Given the description of an element on the screen output the (x, y) to click on. 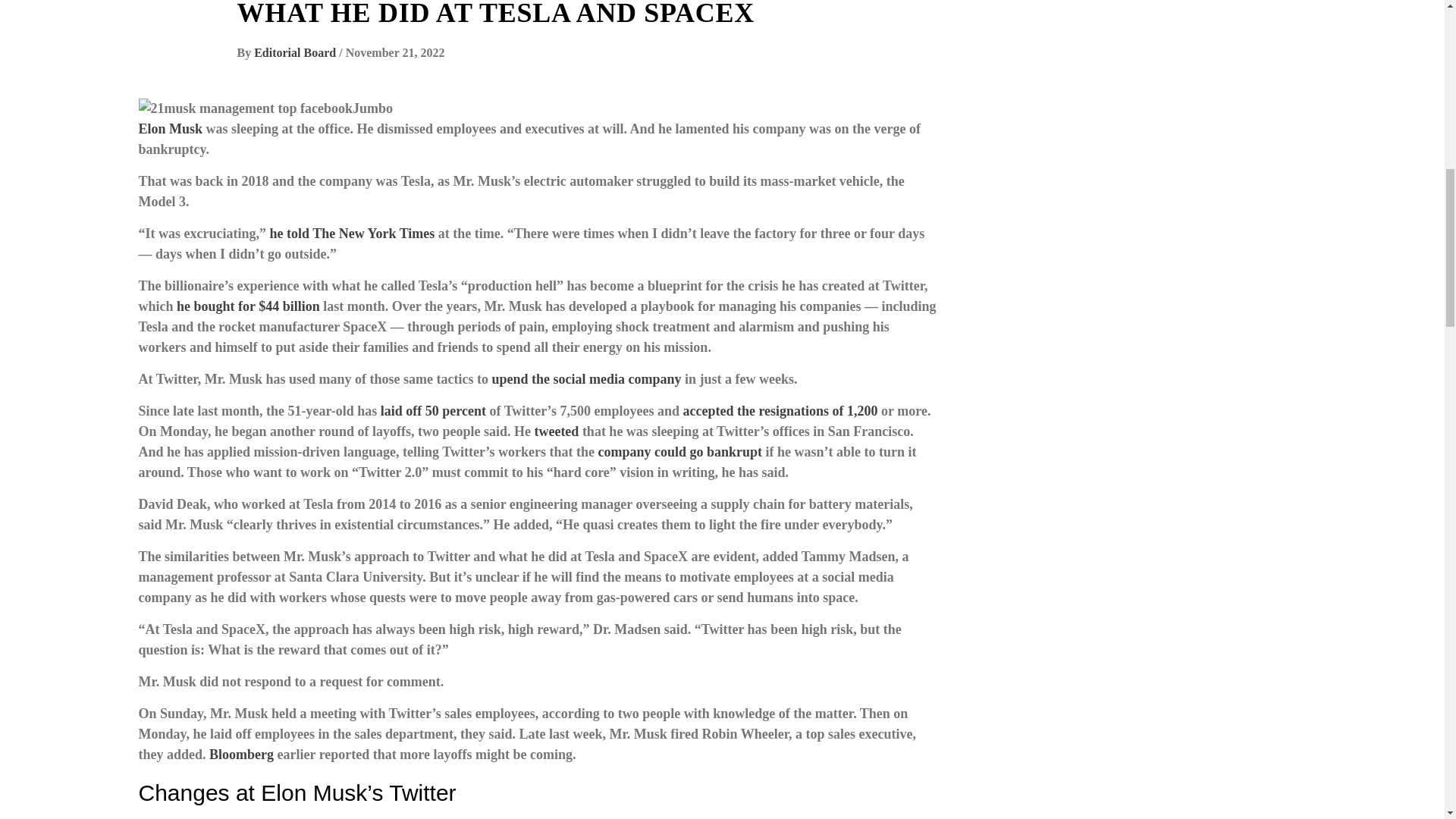
tweeted (556, 431)
company could go bankrupt (680, 451)
Elon Musk (170, 128)
laid off 50 percent (433, 410)
Editorial Board (296, 51)
upend the social media company (586, 378)
accepted the resignations of 1,200 (779, 410)
he told The New York Times (351, 233)
Bloomberg (241, 754)
